Given the description of an element on the screen output the (x, y) to click on. 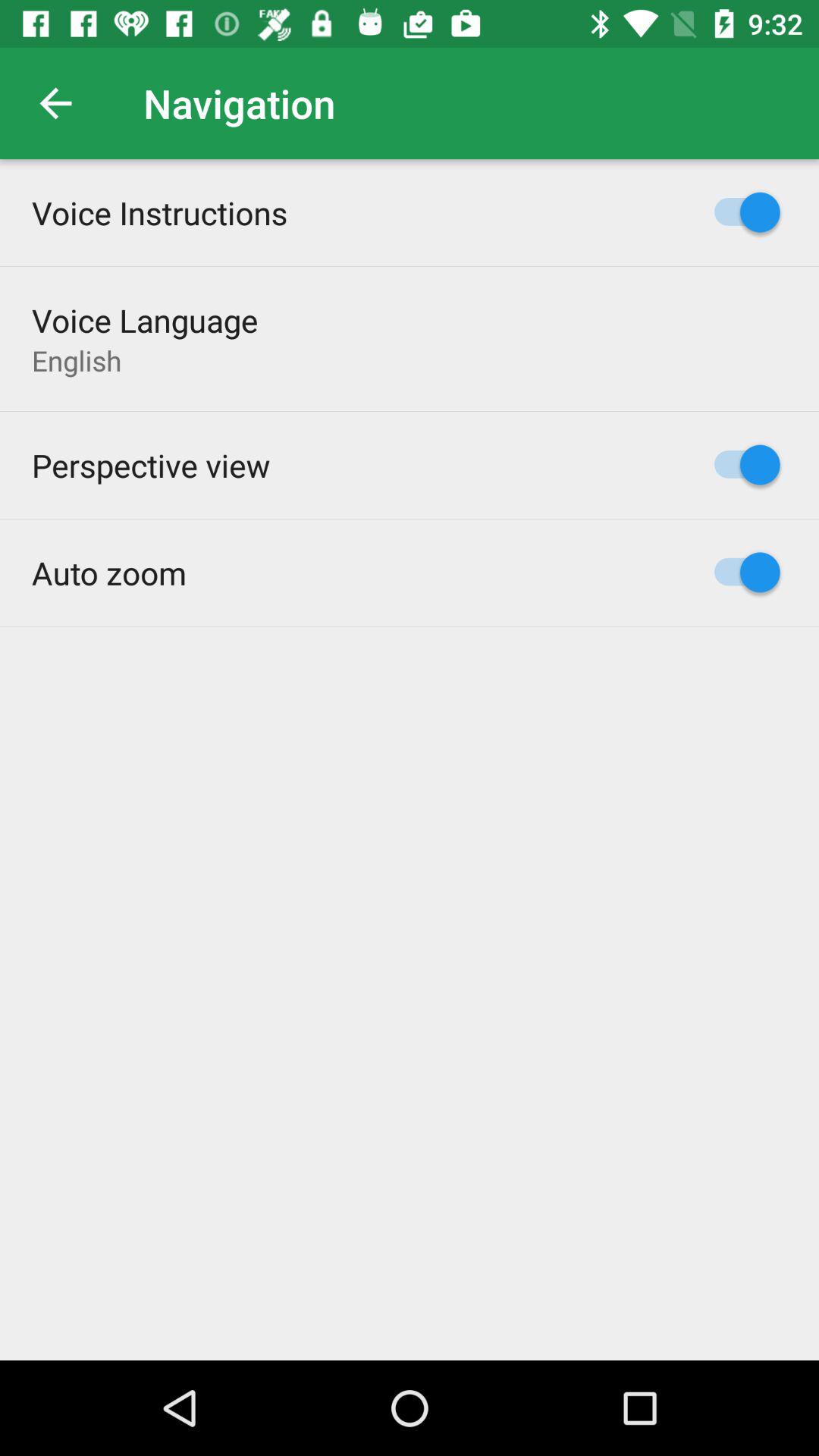
press the item above the voice language item (159, 212)
